Given the description of an element on the screen output the (x, y) to click on. 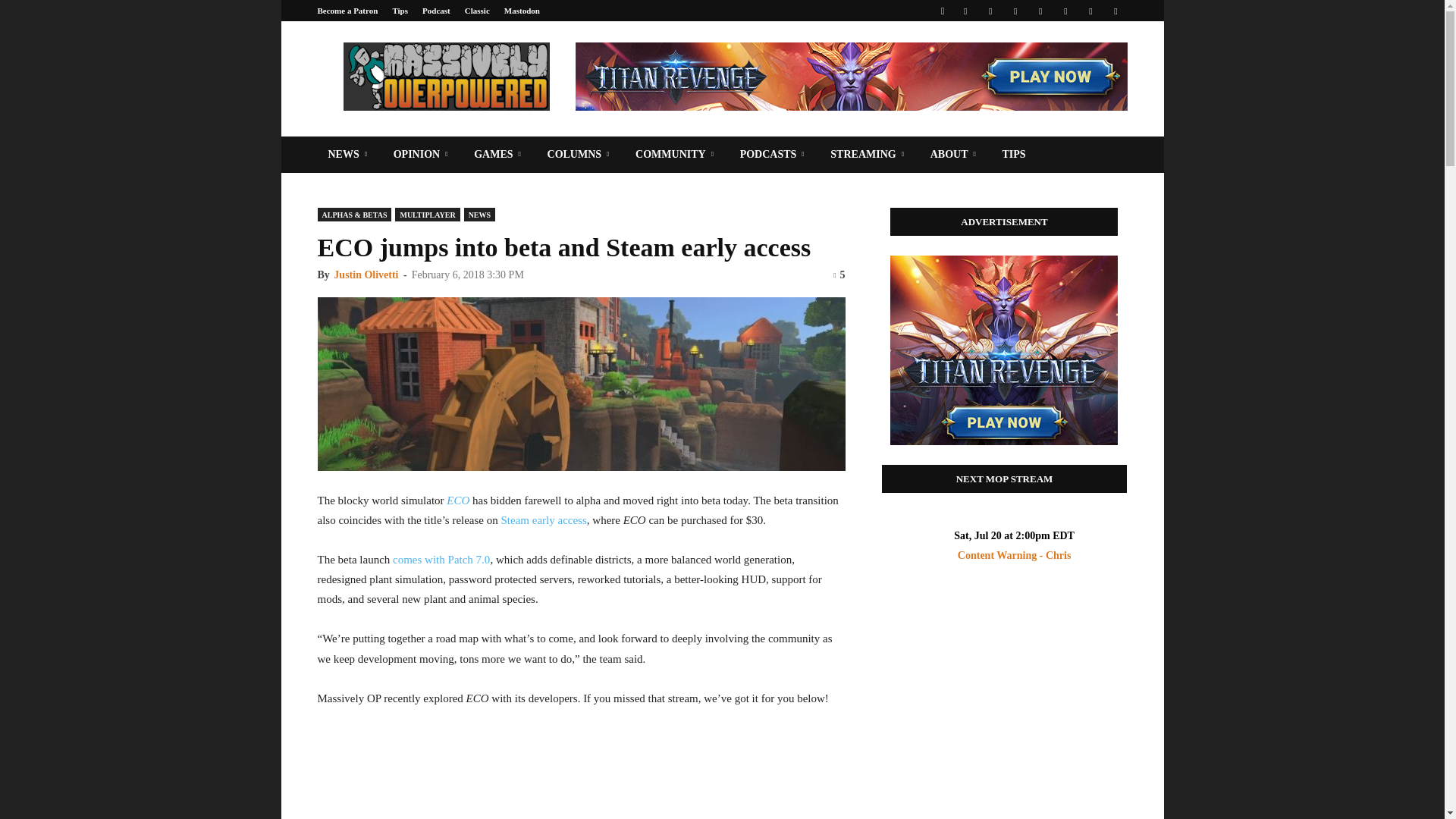
Twitter (1090, 10)
Paypal (1015, 10)
Twitch (1065, 10)
Youtube (1114, 10)
RSS (1040, 10)
Patreon (989, 10)
Facebook (964, 10)
MassivelyOP.com (445, 76)
